Given the description of an element on the screen output the (x, y) to click on. 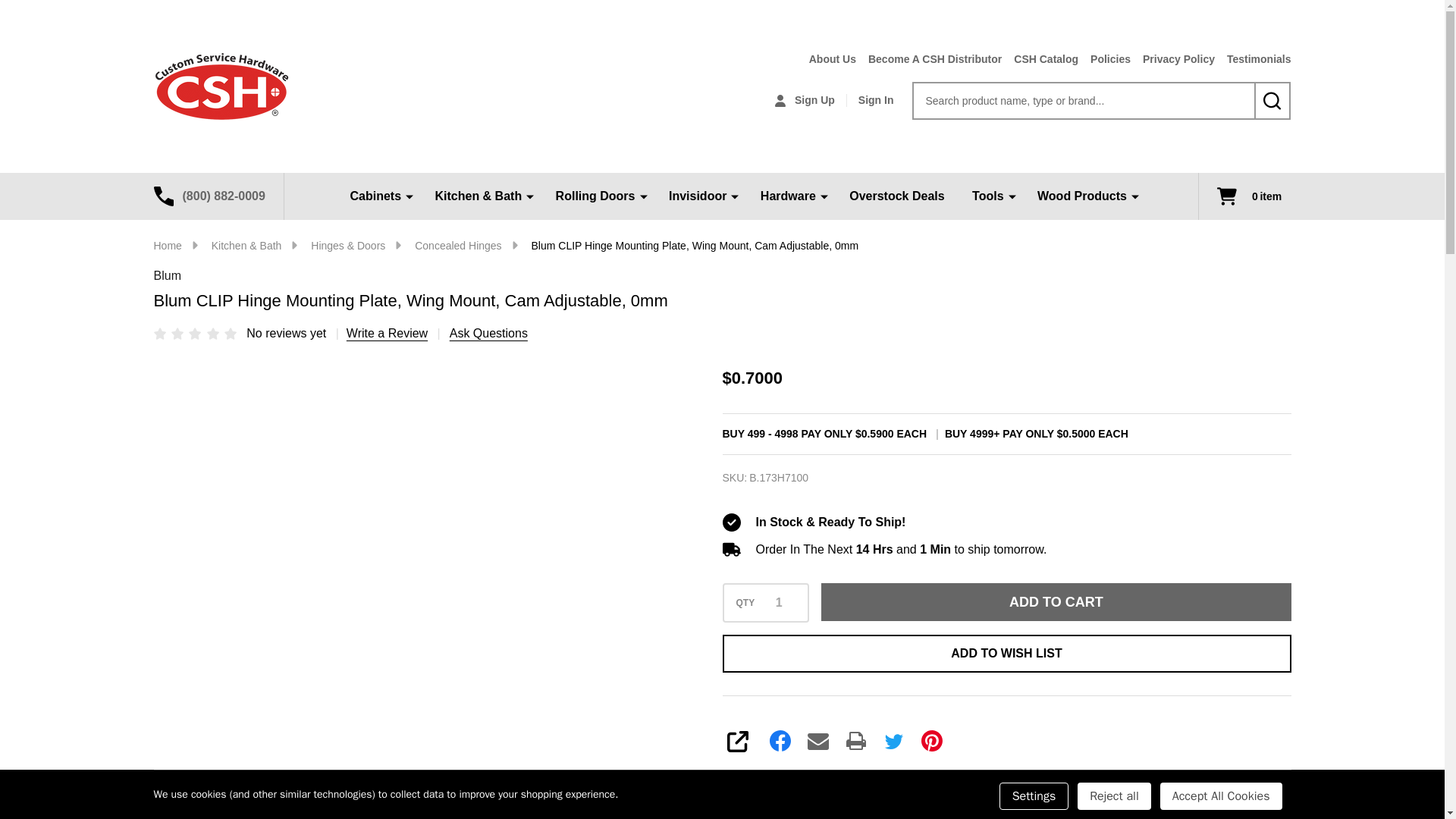
About Us (826, 59)
Cabinets (378, 196)
Sign Up (804, 100)
SEARCH (1271, 100)
CSH Catalog (1039, 59)
Custom Service Hardware LLC (220, 86)
Testimonials (1252, 59)
Sign Up (804, 100)
1 (778, 602)
Become A CSH Distributor (928, 59)
Sign In (876, 100)
Privacy Policy (1172, 59)
Policies (1104, 59)
Sign In (876, 100)
